Given the description of an element on the screen output the (x, y) to click on. 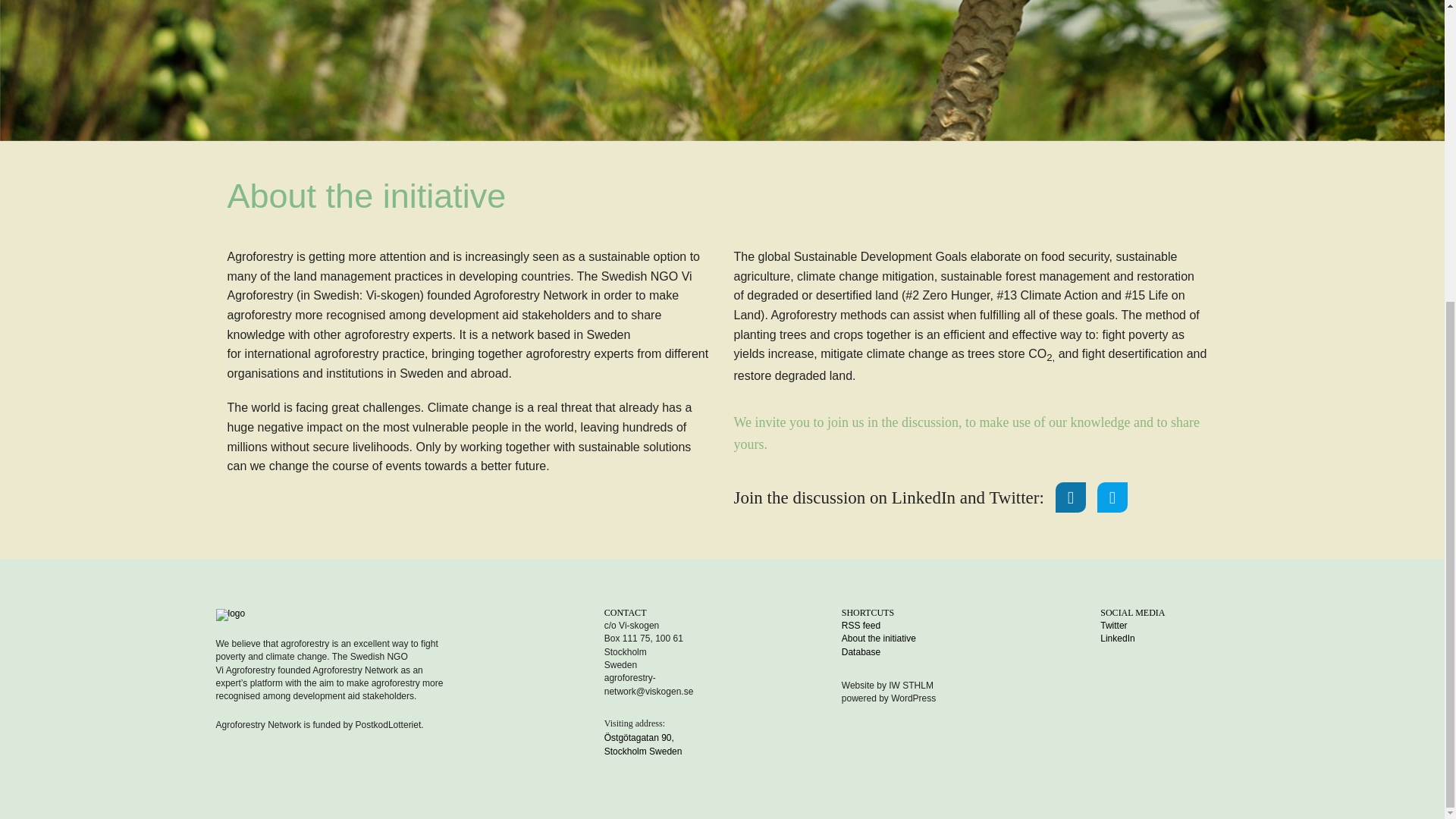
About the initiative (905, 638)
RSS feed (905, 625)
Twitter (1164, 625)
LinkedIn (1164, 638)
Database (905, 652)
